Given the description of an element on the screen output the (x, y) to click on. 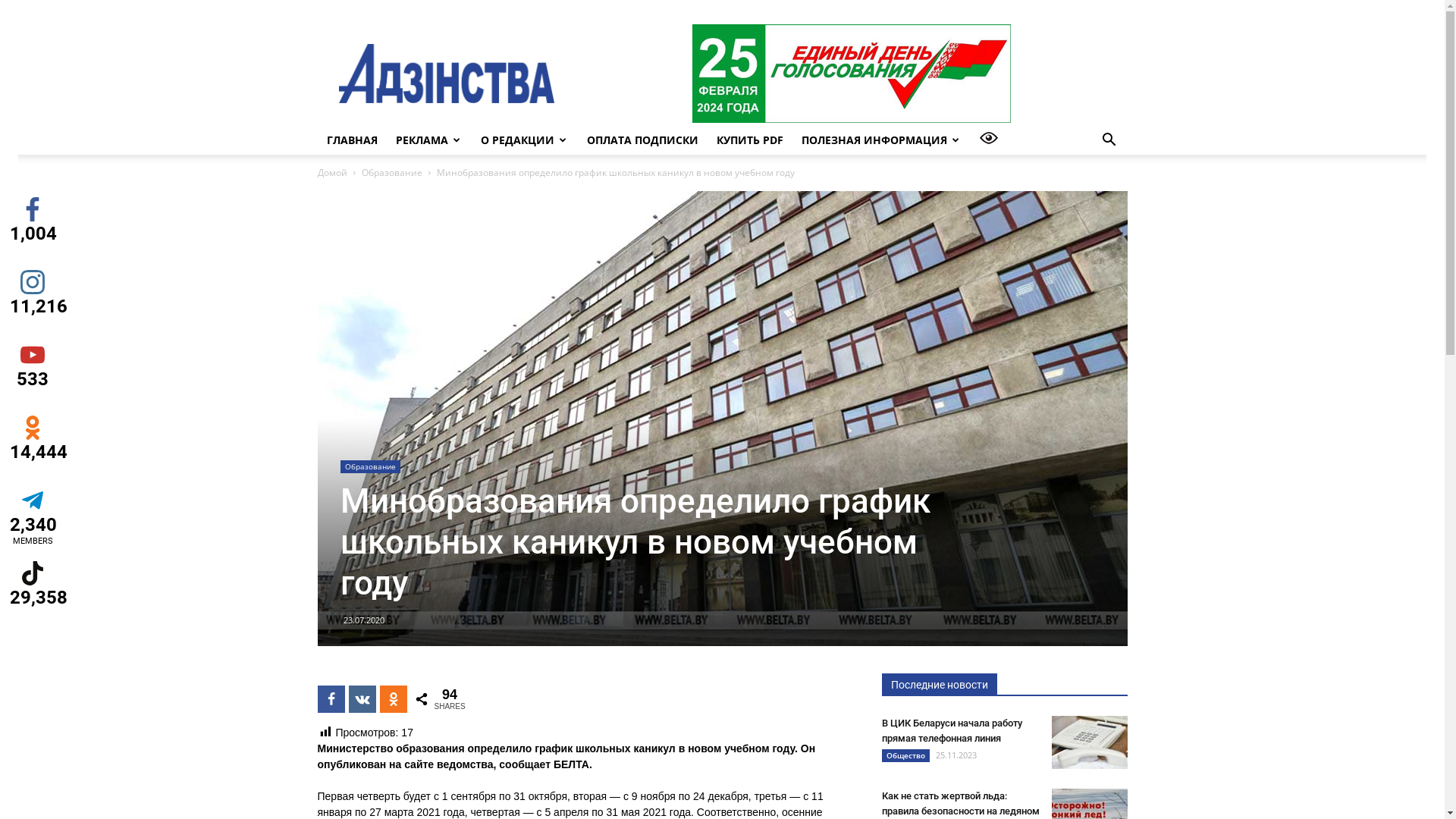
0 Element type: text (330, 698)
94 Element type: text (392, 698)
0 Element type: text (362, 698)
